Given the description of an element on the screen output the (x, y) to click on. 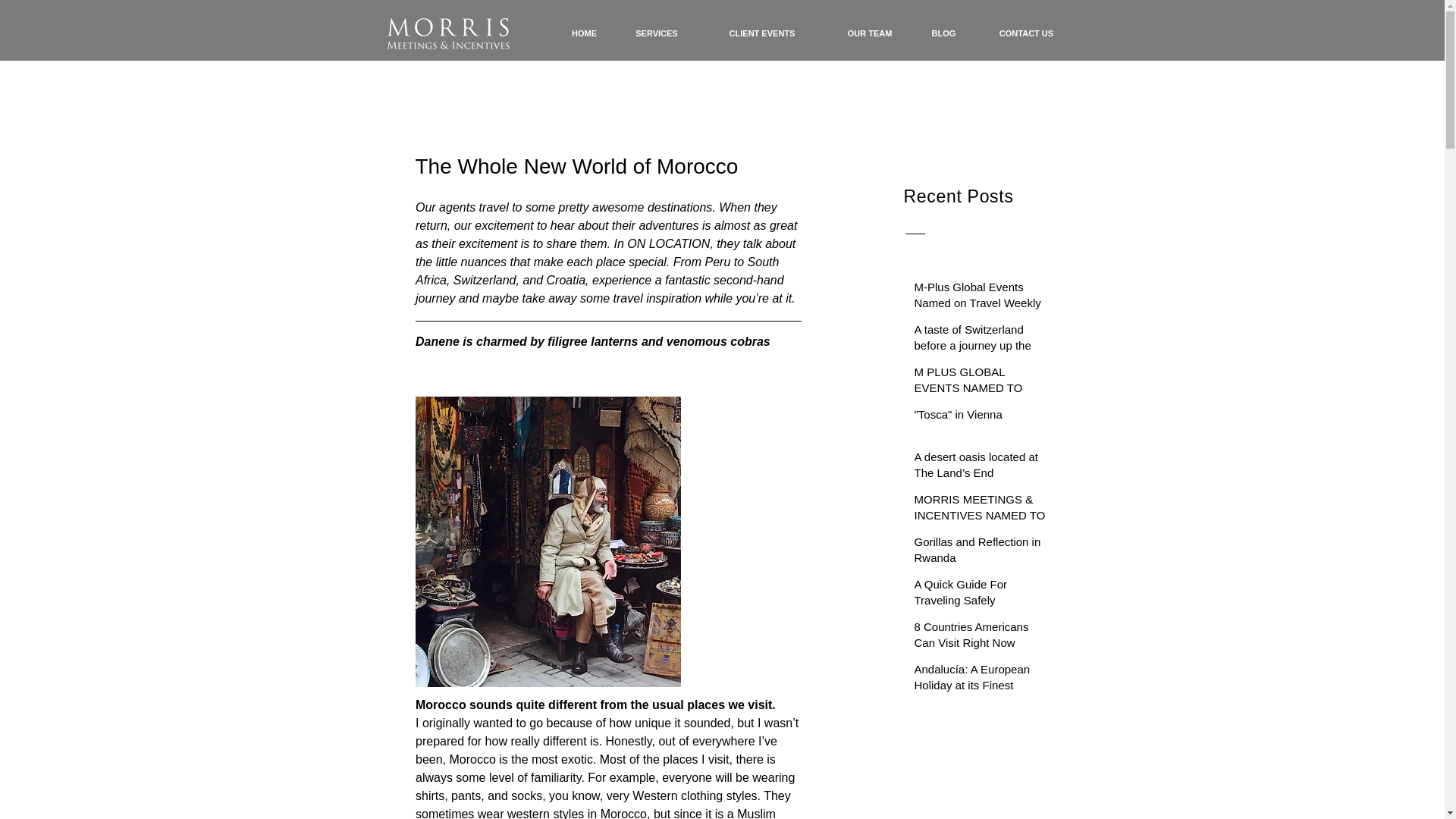
SERVICES (657, 33)
HOME (584, 33)
BLOG (943, 33)
Gorillas and Reflection in Rwanda (982, 552)
CLIENT EVENTS (761, 33)
OUR TEAM (870, 33)
A Quick Guide For Traveling Safely (982, 595)
CONTACT US (1026, 33)
8 Countries Americans Can Visit Right Now (982, 637)
M-Plus Global Events Named on Travel Weekly 2024 Power List (982, 305)
